Given the description of an element on the screen output the (x, y) to click on. 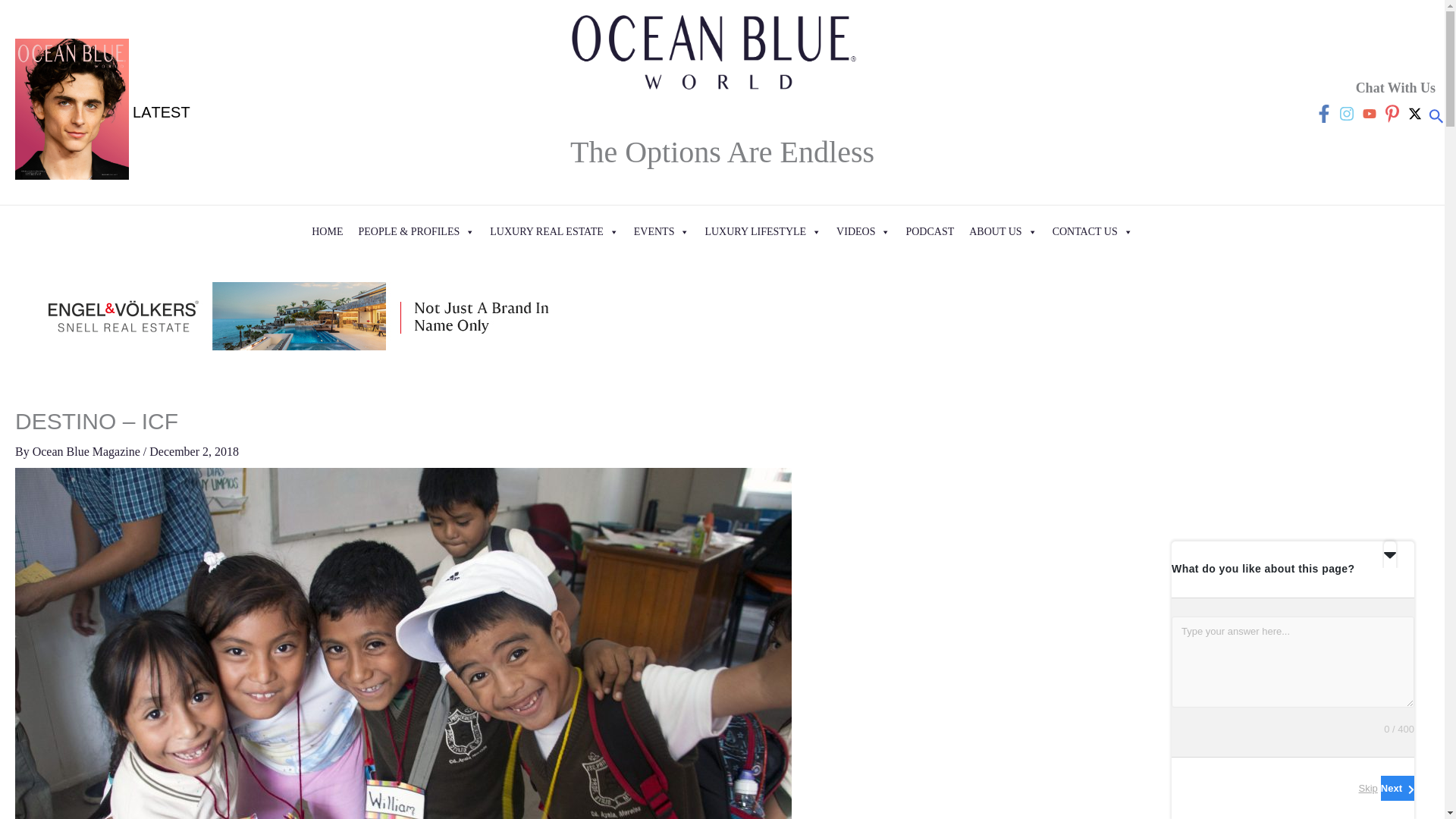
HOME (327, 232)
EVENTS (661, 232)
LUXURY REAL ESTATE (553, 232)
View all posts by Ocean Blue Magazine (87, 451)
LUXURY LIFESTYLE (762, 232)
